Given the description of an element on the screen output the (x, y) to click on. 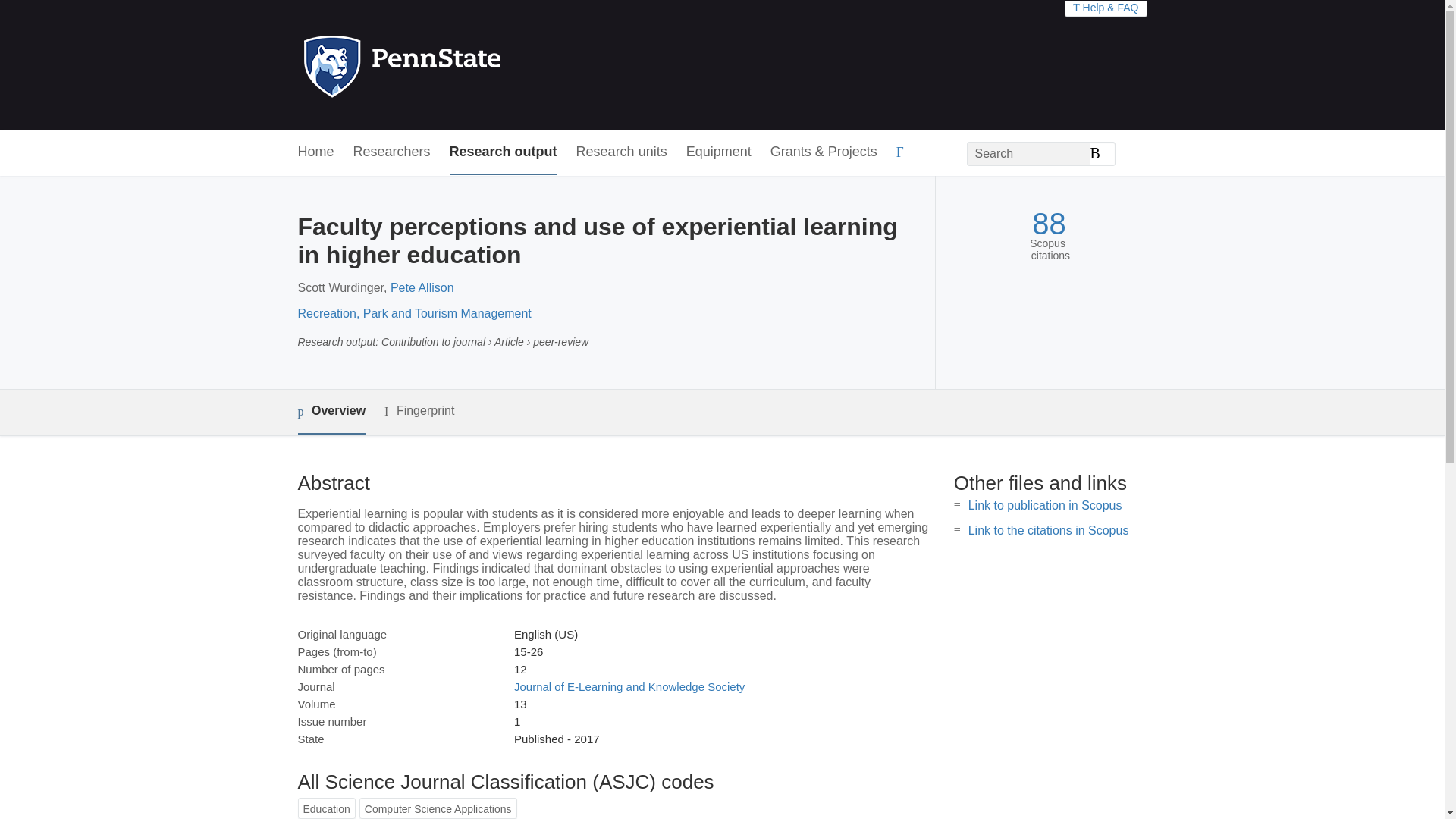
Pete Allison (422, 287)
Researchers (391, 152)
88 (1048, 223)
Overview (331, 411)
Research output (503, 152)
Recreation, Park and Tourism Management (414, 313)
Journal of E-Learning and Knowledge Society (628, 686)
Research units (621, 152)
Equipment (718, 152)
Link to the citations in Scopus (1048, 530)
Fingerprint (419, 411)
Penn State Home (467, 65)
Link to publication in Scopus (1045, 504)
